Given the description of an element on the screen output the (x, y) to click on. 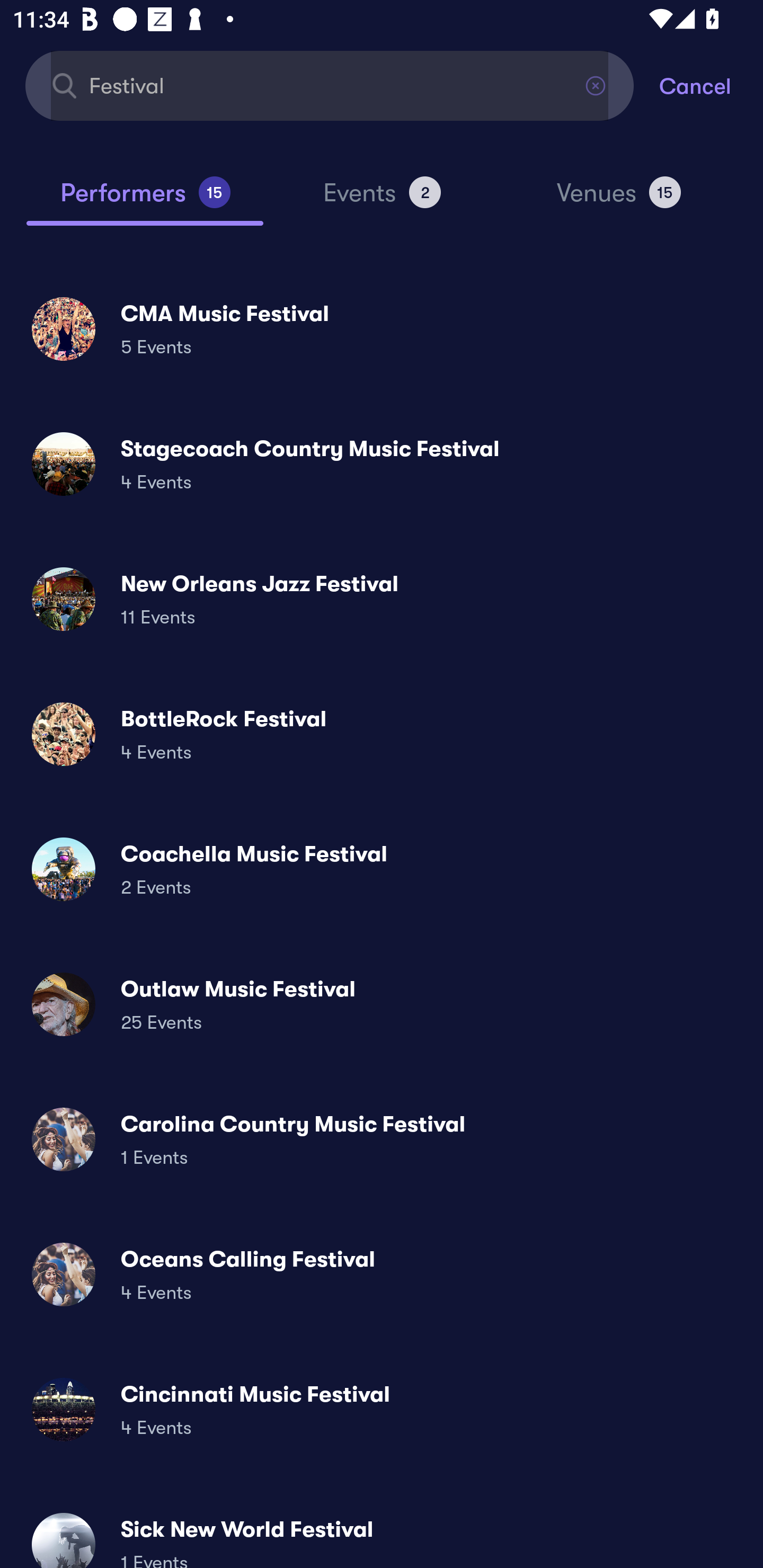
Festival Find (329, 85)
Festival Find (329, 85)
Cancel (711, 85)
Performers 15 (144, 200)
Events 2 (381, 200)
Venues 15 (618, 200)
CMA Music Festival 5 Events (381, 328)
Stagecoach Country Music Festival 4 Events (381, 464)
New Orleans Jazz Festival 11 Events (381, 598)
BottleRock Festival 4 Events (381, 734)
Coachella Music Festival 2 Events (381, 869)
Outlaw Music Festival 25 Events (381, 1004)
Carolina Country Music Festival 1 Events (381, 1138)
Oceans Calling Festival 4 Events (381, 1273)
Cincinnati Music Festival 4 Events (381, 1409)
Sick New World Festival 1 Events (381, 1532)
